Given the description of an element on the screen output the (x, y) to click on. 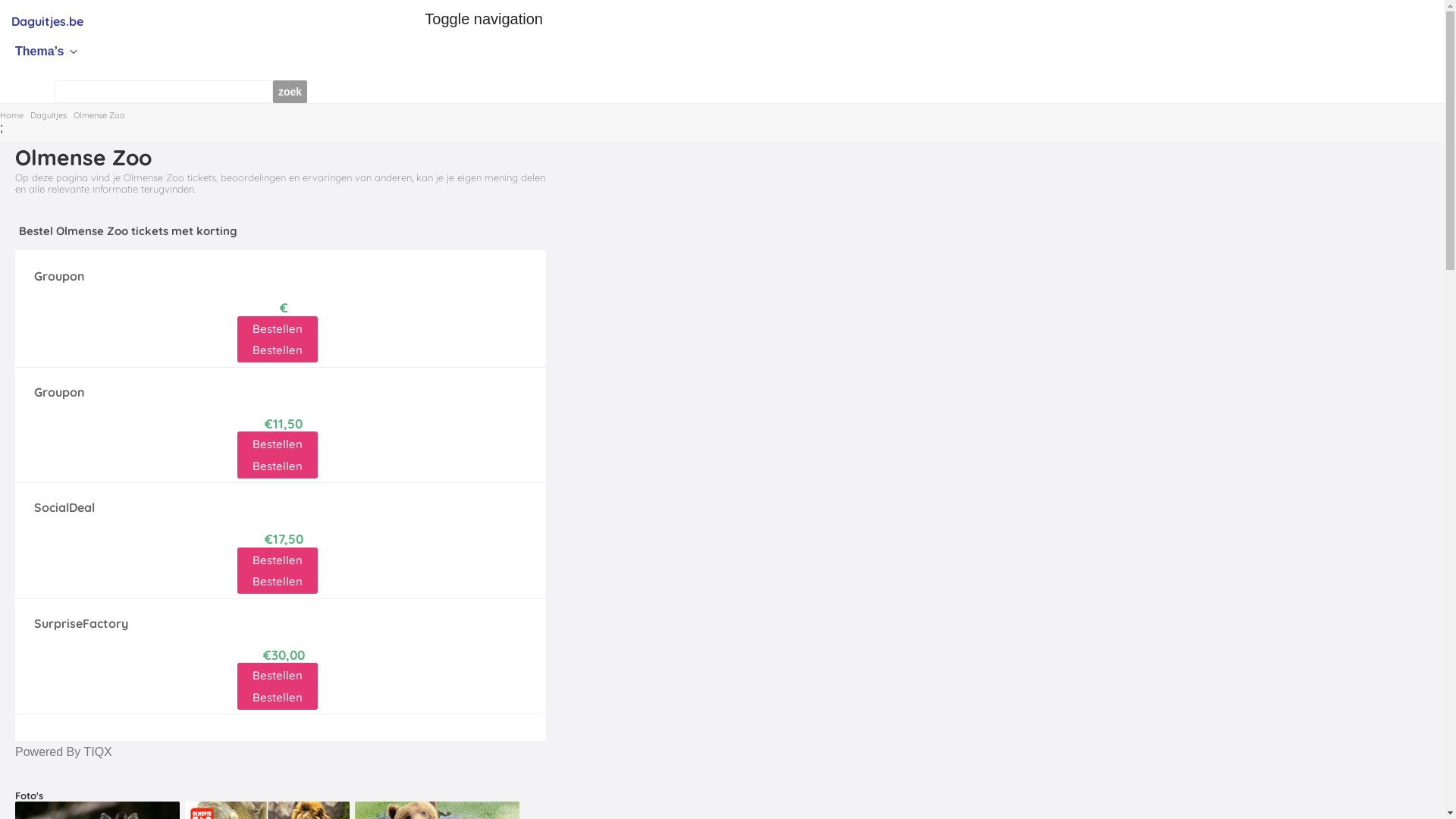
SurpriseFactory Element type: text (81, 622)
Daguitjes Element type: text (48, 114)
Bestellen Element type: text (277, 328)
Naar de inhoud springen Element type: text (0, 0)
Daguitjes.be Element type: text (47, 20)
zoek Element type: text (290, 91)
Bestellen Element type: text (277, 559)
SocialDeal Element type: text (64, 506)
Bestellen Element type: text (277, 580)
Bestellen Element type: text (277, 349)
Groupon Element type: text (59, 275)
Bestellen Element type: text (277, 696)
Home Element type: text (11, 114)
Bestellen Element type: text (277, 443)
Bestellen Element type: text (277, 465)
Groupon Element type: text (59, 391)
Bestellen Element type: text (277, 674)
